Given the description of an element on the screen output the (x, y) to click on. 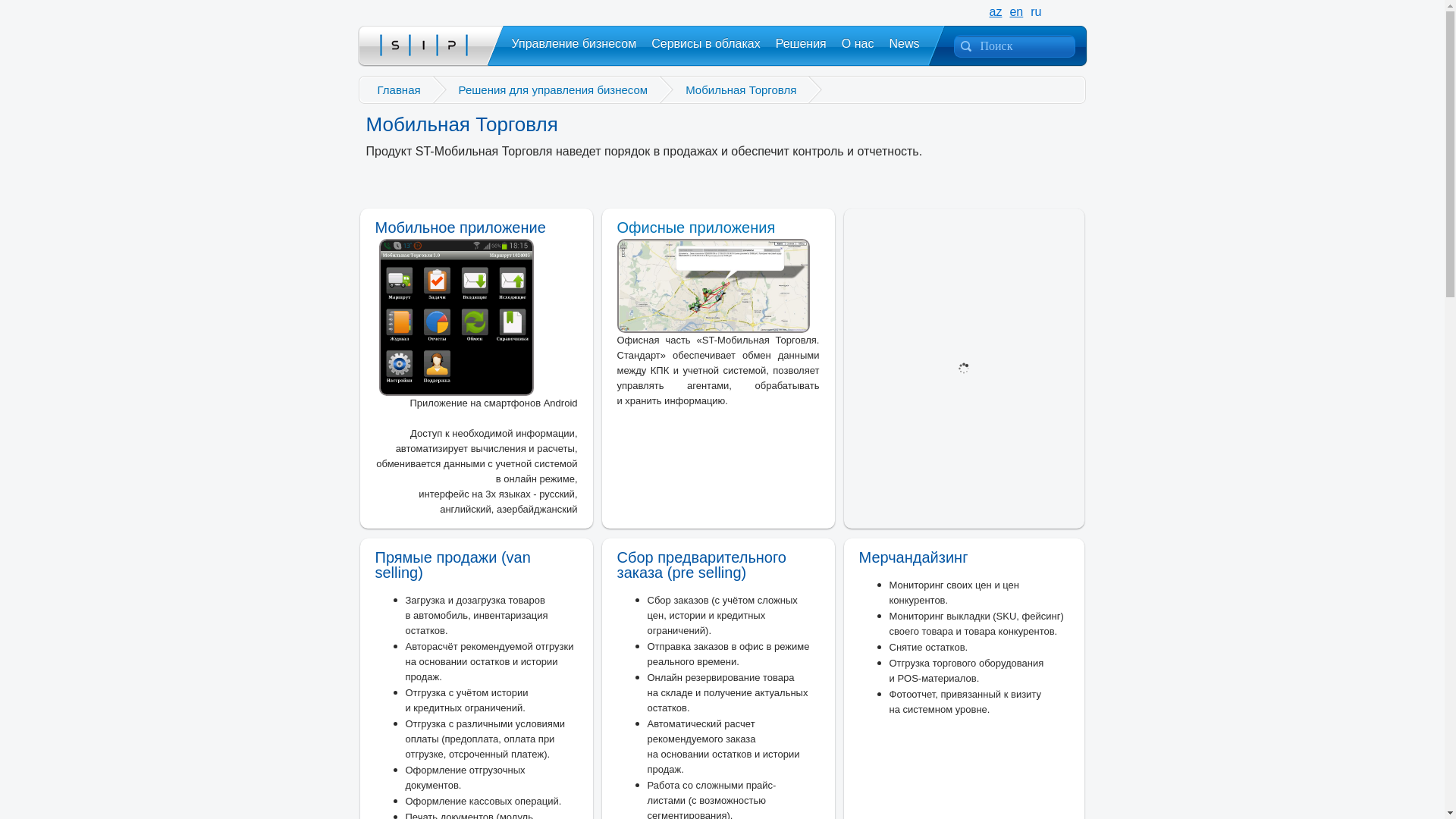
az Element type: text (995, 11)
Go Element type: text (43, 11)
en Element type: text (1015, 11)
News Element type: text (903, 43)
ru Element type: text (1035, 11)
